Given the description of an element on the screen output the (x, y) to click on. 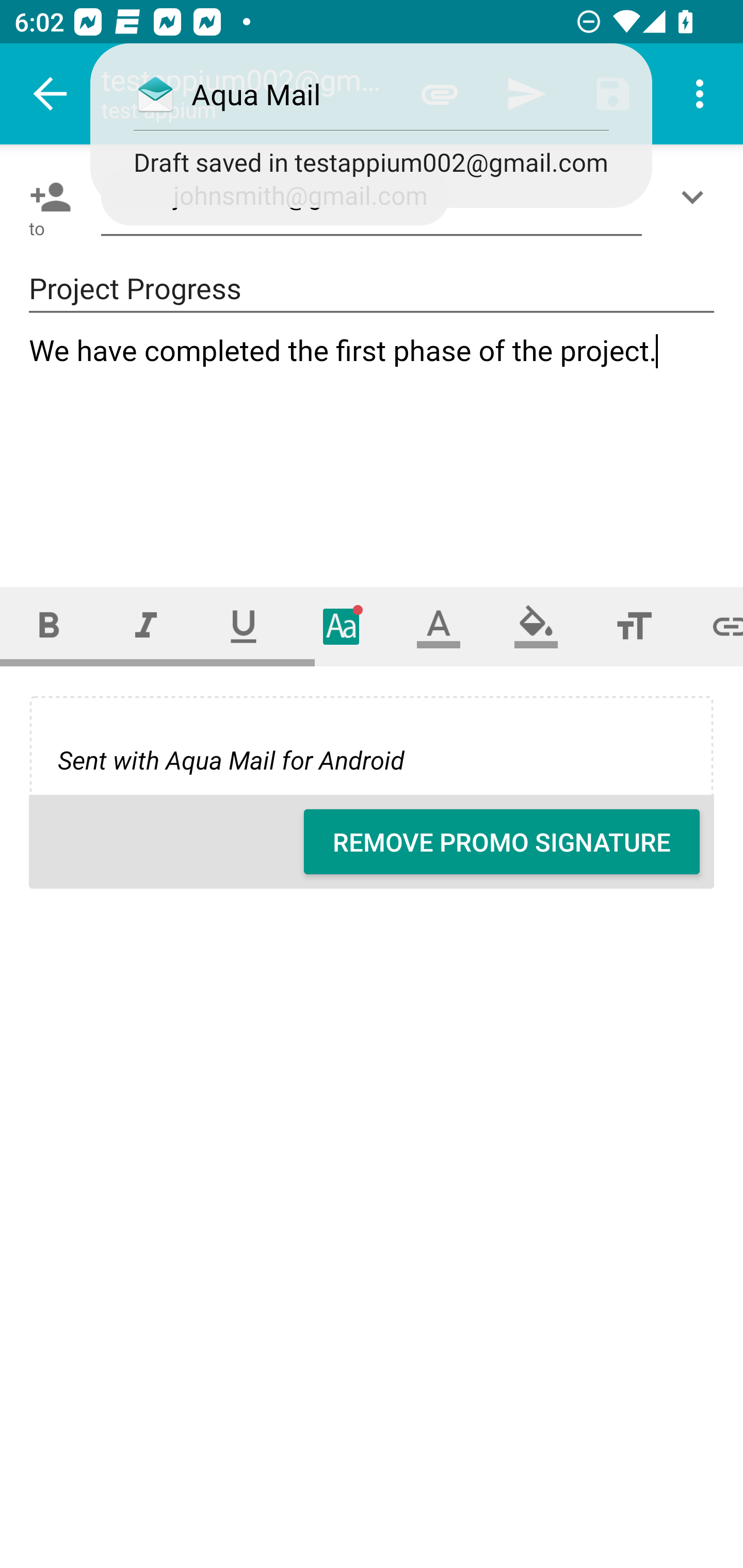
Navigate up (50, 93)
testappium002@gmail.com test appium (248, 93)
More options (699, 93)
Pick contact: To (46, 196)
Show/Add CC/BCC (696, 196)
Project Progress (371, 288)
We have completed the first phase of the project. (372, 442)
Bold (48, 626)
Italic (145, 626)
Underline (243, 626)
Typeface (font) (341, 626)
Text color (438, 626)
Fill color (536, 626)
Font size (633, 626)
REMOVE PROMO SIGNATURE (501, 841)
